Given the description of an element on the screen output the (x, y) to click on. 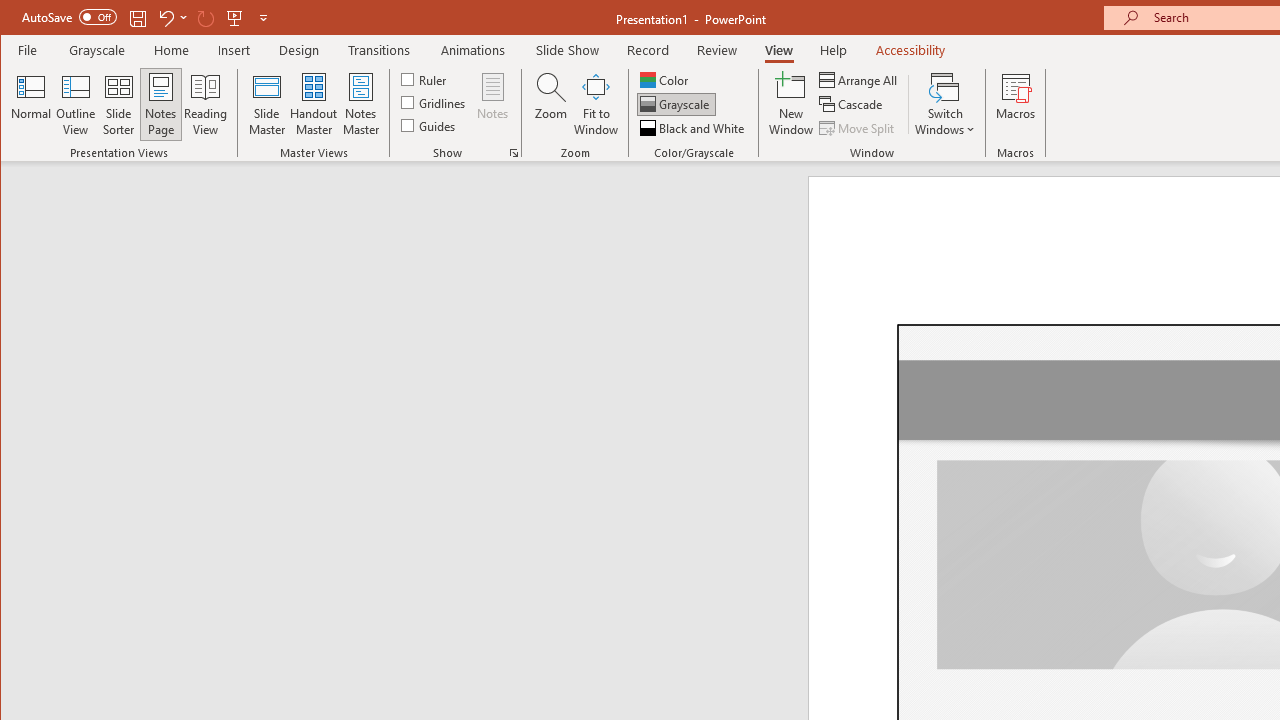
Fit to Window (596, 104)
Slide Master (266, 104)
Outline View (75, 104)
Notes Master (360, 104)
Ruler (425, 78)
Guides (430, 124)
Arrange All (859, 80)
